Given the description of an element on the screen output the (x, y) to click on. 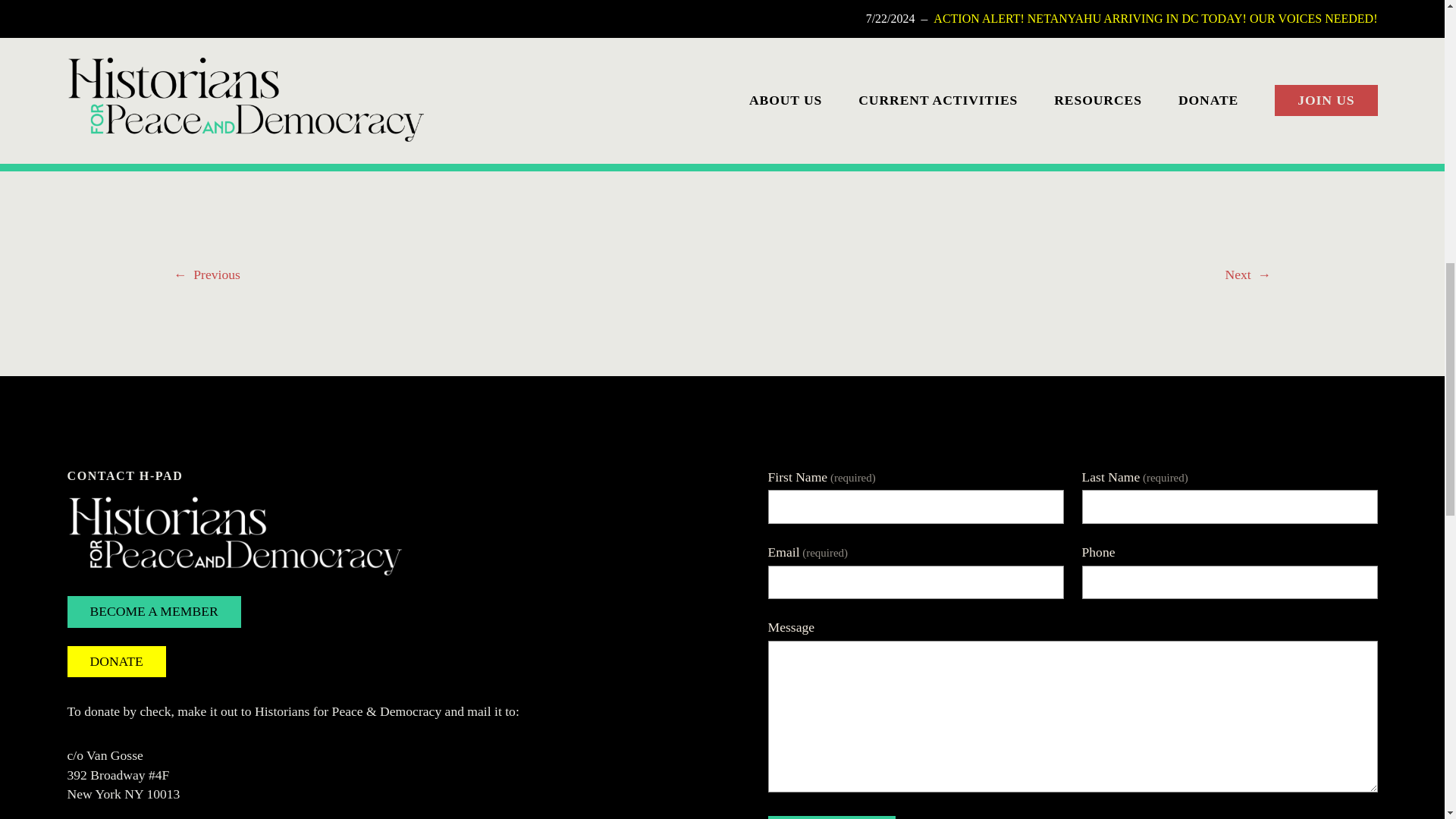
CONTACT US (831, 817)
DONATE (115, 662)
Next (1237, 273)
Previous (216, 273)
BECOME A MEMBER (153, 612)
